Given the description of an element on the screen output the (x, y) to click on. 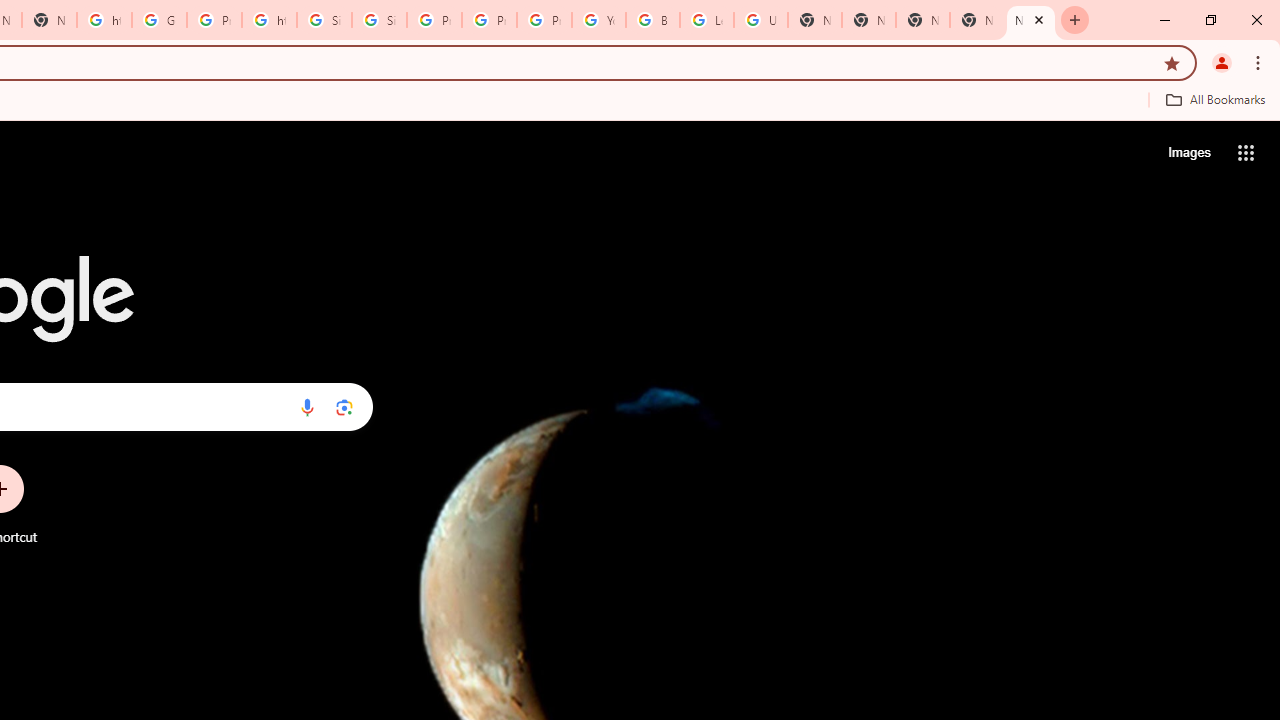
New Tab (1030, 20)
Search for Images  (1188, 152)
https://scholar.google.com/ (268, 20)
Search by voice (307, 407)
Browse Chrome as a guest - Computer - Google Chrome Help (652, 20)
Sign in - Google Accounts (324, 20)
